Given the description of an element on the screen output the (x, y) to click on. 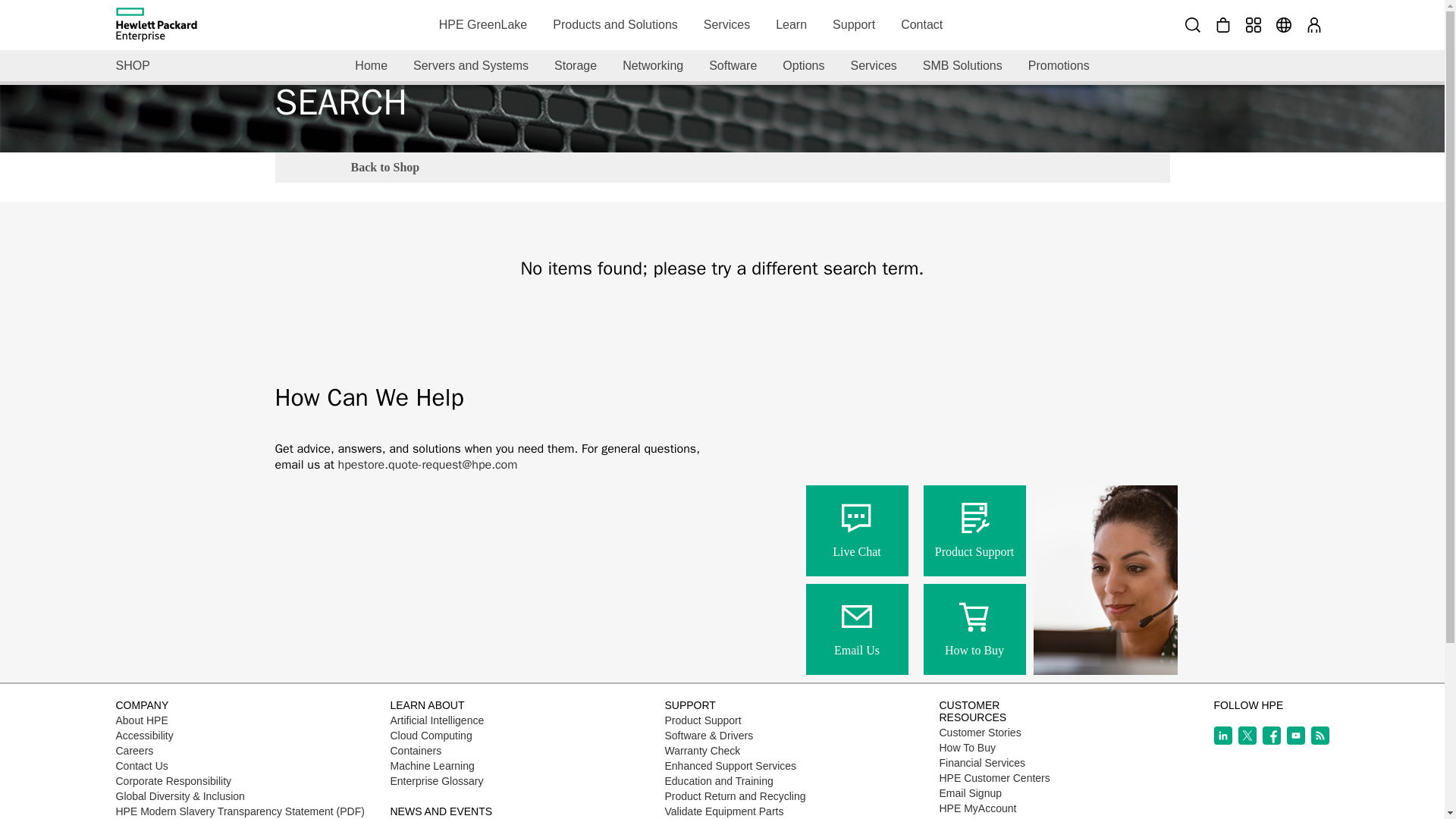
Hewlett Packard Enterprise (155, 24)
HPE RSS Feed - new window (1318, 735)
Products and Solutions (614, 24)
Services (727, 24)
Learn (791, 24)
Support (853, 24)
YouTube - new window (1294, 735)
LinkedIn - new window (1221, 735)
Facebook - new window (1270, 735)
X - new window (1246, 735)
